Given the description of an element on the screen output the (x, y) to click on. 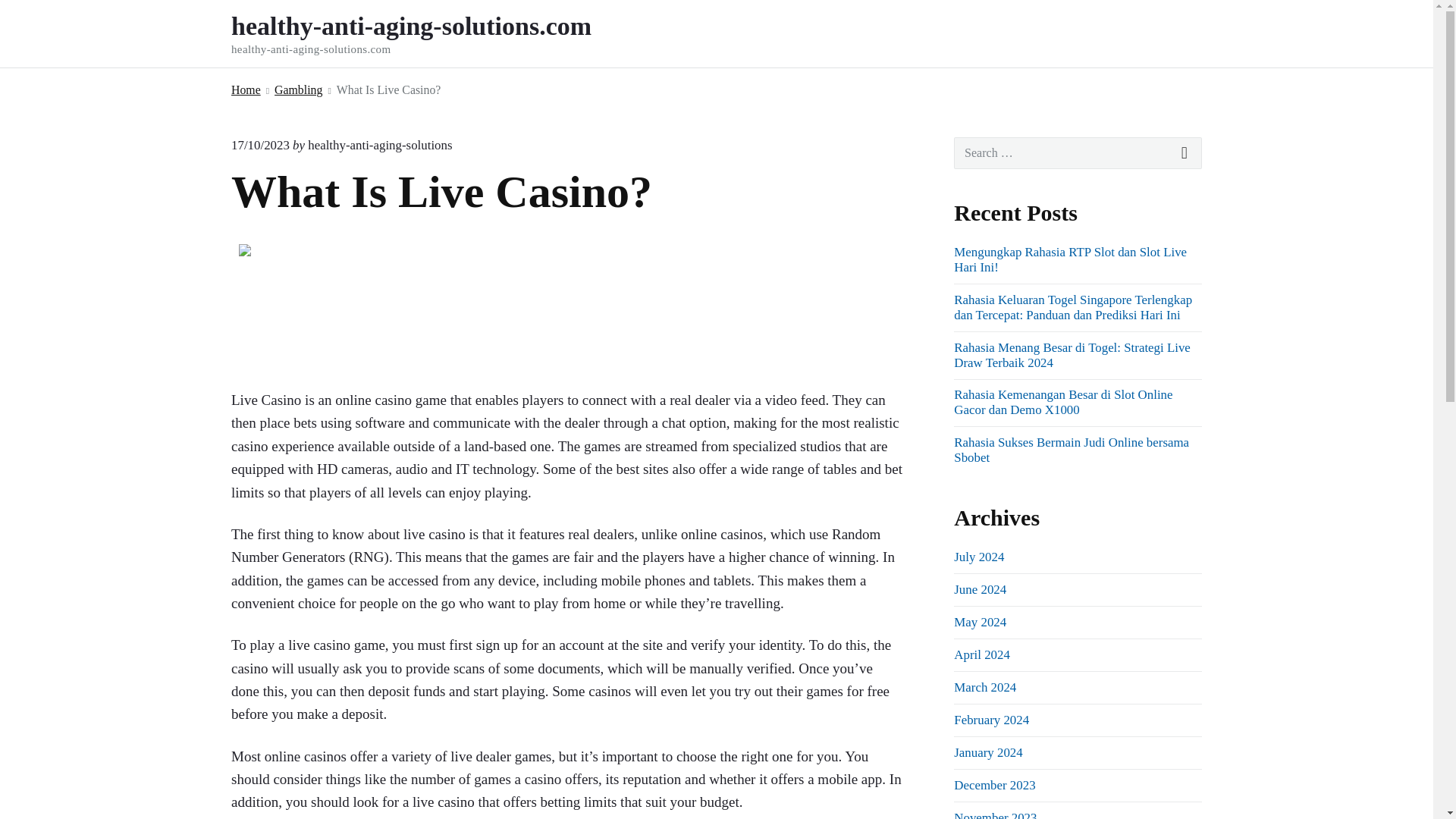
Rahasia Kemenangan Besar di Slot Online Gacor dan Demo X1000 (1062, 401)
November 2023 (994, 814)
Gambling (298, 89)
May 2024 (979, 622)
February 2024 (991, 719)
March 2024 (984, 687)
Home (245, 89)
Search for: (1077, 152)
Mengungkap Rahasia RTP Slot dan Slot Live Hari Ini! (1069, 259)
June 2024 (979, 589)
April 2024 (981, 654)
SEARCH (1184, 152)
Posts by healthy-anti-aging-solutions (379, 145)
Rahasia Sukses Bermain Judi Online bersama Sbobet (1071, 449)
